Given the description of an element on the screen output the (x, y) to click on. 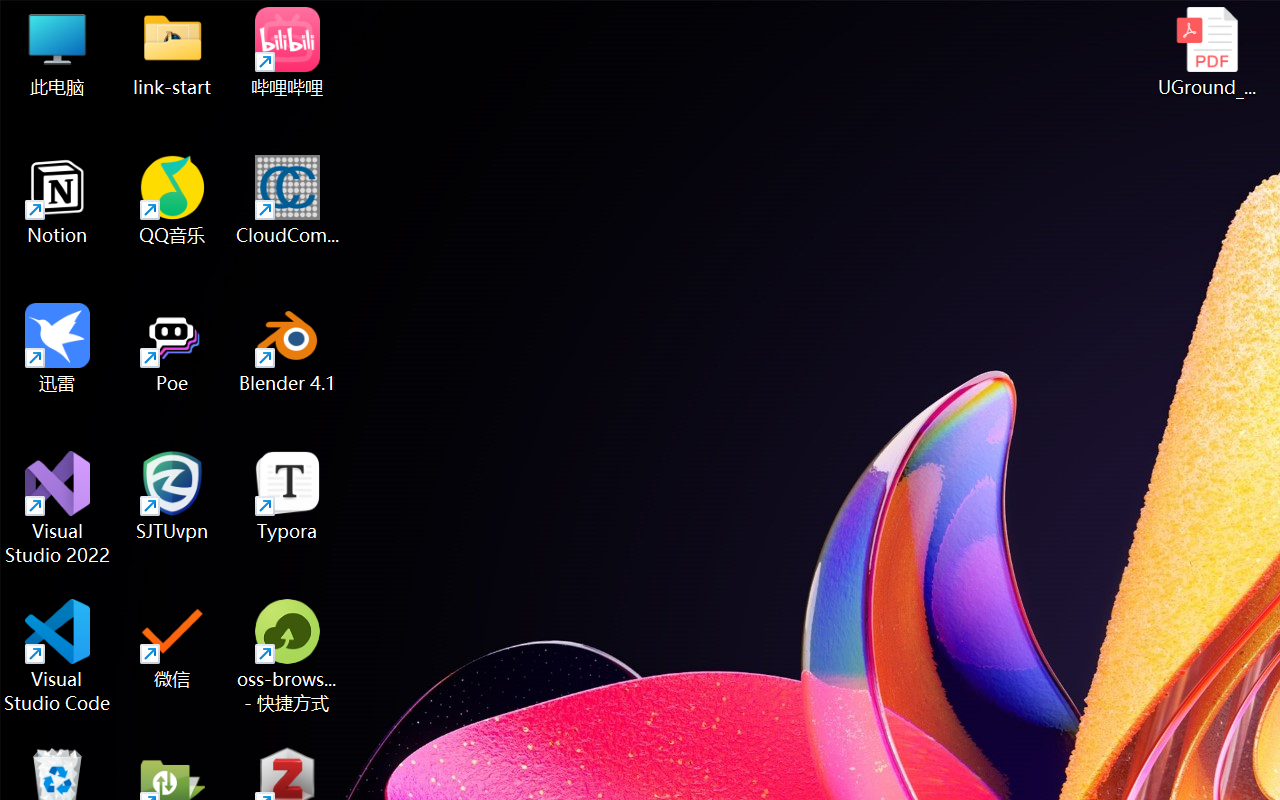
Typora (287, 496)
CloudCompare (287, 200)
Visual Studio 2022 (57, 508)
Visual Studio Code (57, 656)
UGround_paper.pdf (1206, 52)
Blender 4.1 (287, 348)
SJTUvpn (172, 496)
